Given the description of an element on the screen output the (x, y) to click on. 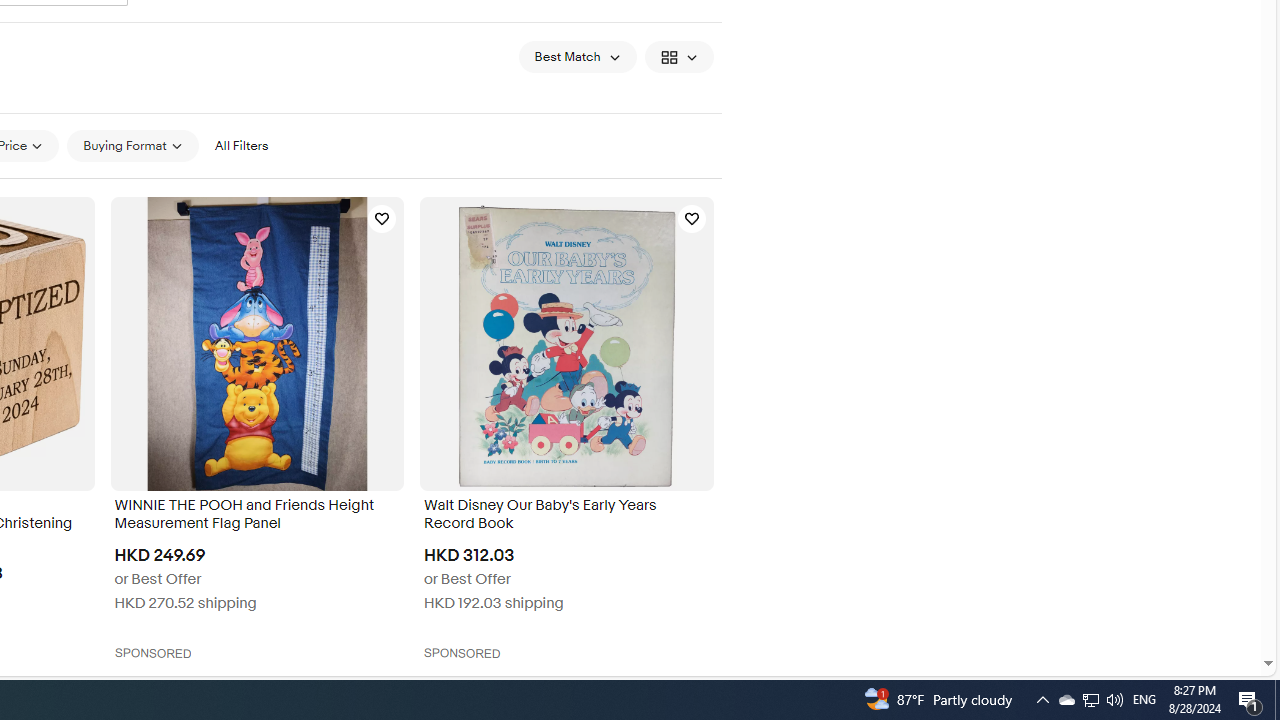
Buying Format (132, 146)
Walt Disney Our Baby's Early Years Record Book (566, 516)
WINNIE THE POOH and Friends Height Measurement Flag Panel (256, 516)
Sort: Best Match (577, 56)
Buying Format (132, 145)
View: Gallery View (678, 56)
All Filters (241, 145)
All Filters (241, 146)
